Given the description of an element on the screen output the (x, y) to click on. 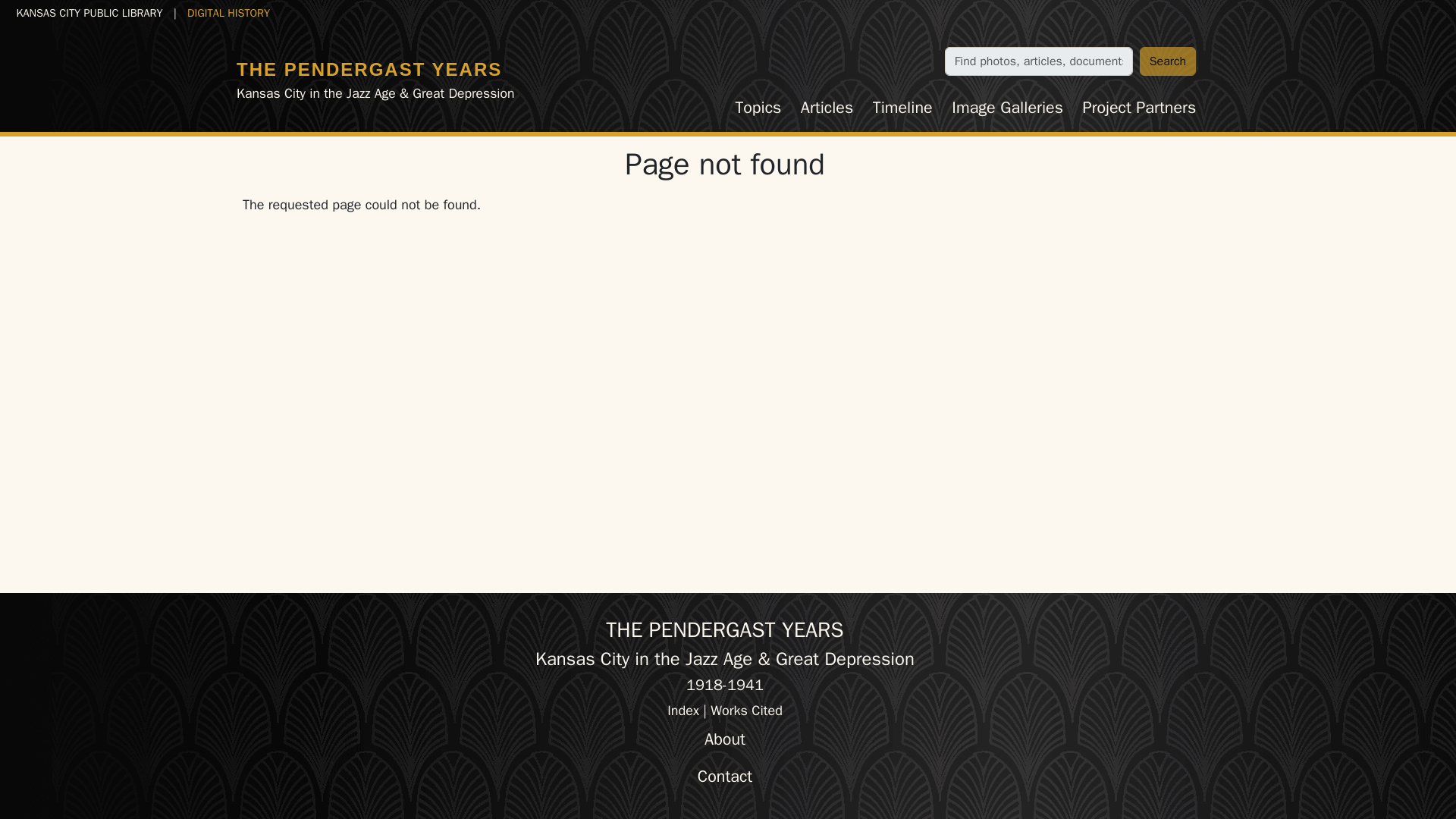
DIGITAL HISTORY (228, 12)
Timeline (902, 107)
Image Galleries (1007, 107)
Home (368, 68)
Project Partners (1139, 107)
Topics (757, 107)
Articles (826, 107)
Search (1168, 61)
Index (682, 710)
About (725, 739)
Skip to main content (67, 11)
Contact (725, 776)
THE PENDERGAST YEARS (368, 68)
Works Cited (746, 710)
Search (1168, 61)
